Given the description of an element on the screen output the (x, y) to click on. 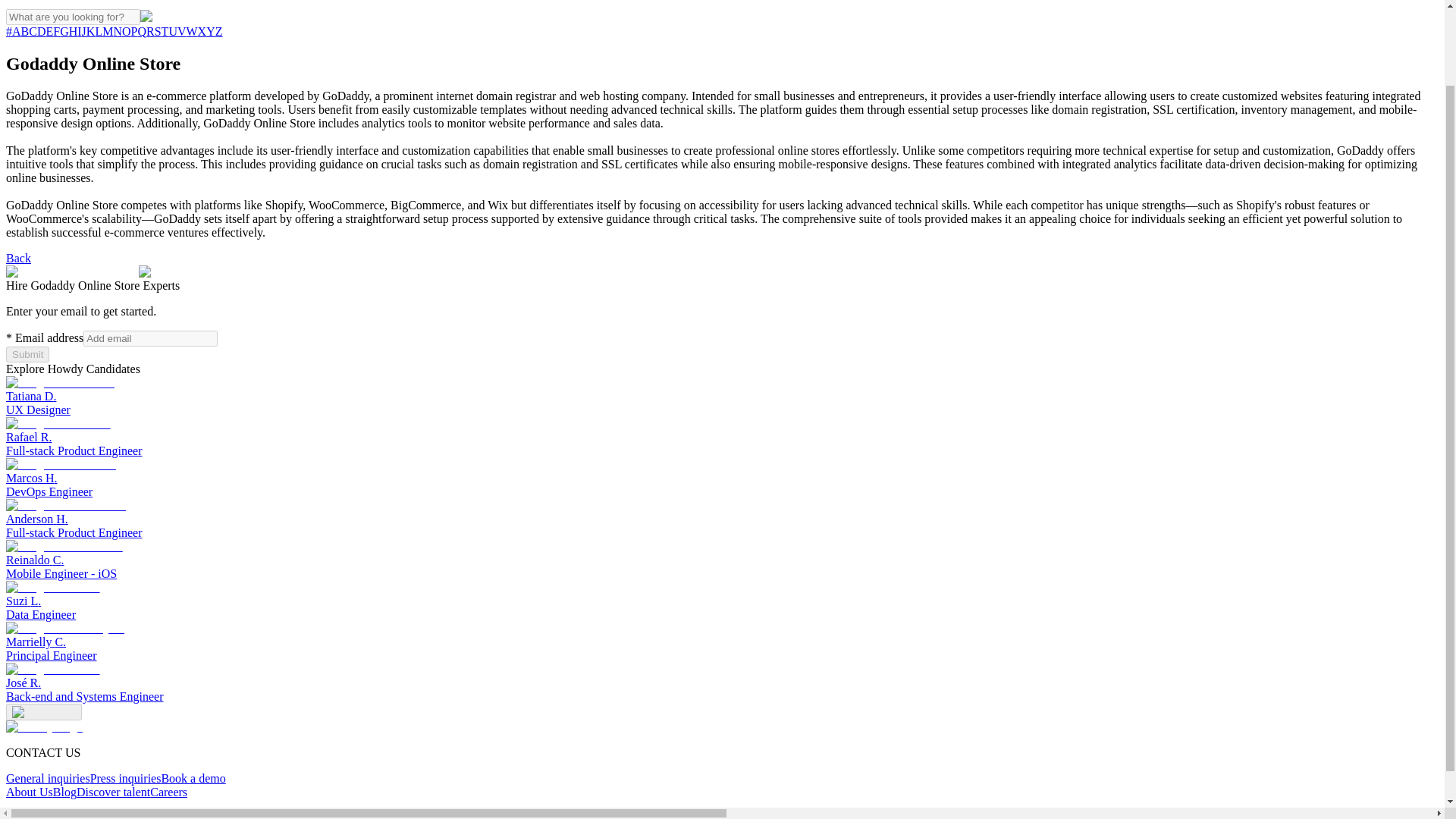
T (164, 31)
D (41, 31)
A (184, 641)
Submit (16, 31)
F (27, 354)
J (55, 31)
V (83, 31)
W (184, 436)
H (181, 31)
C (192, 31)
Back (73, 31)
L (33, 31)
